Given the description of an element on the screen output the (x, y) to click on. 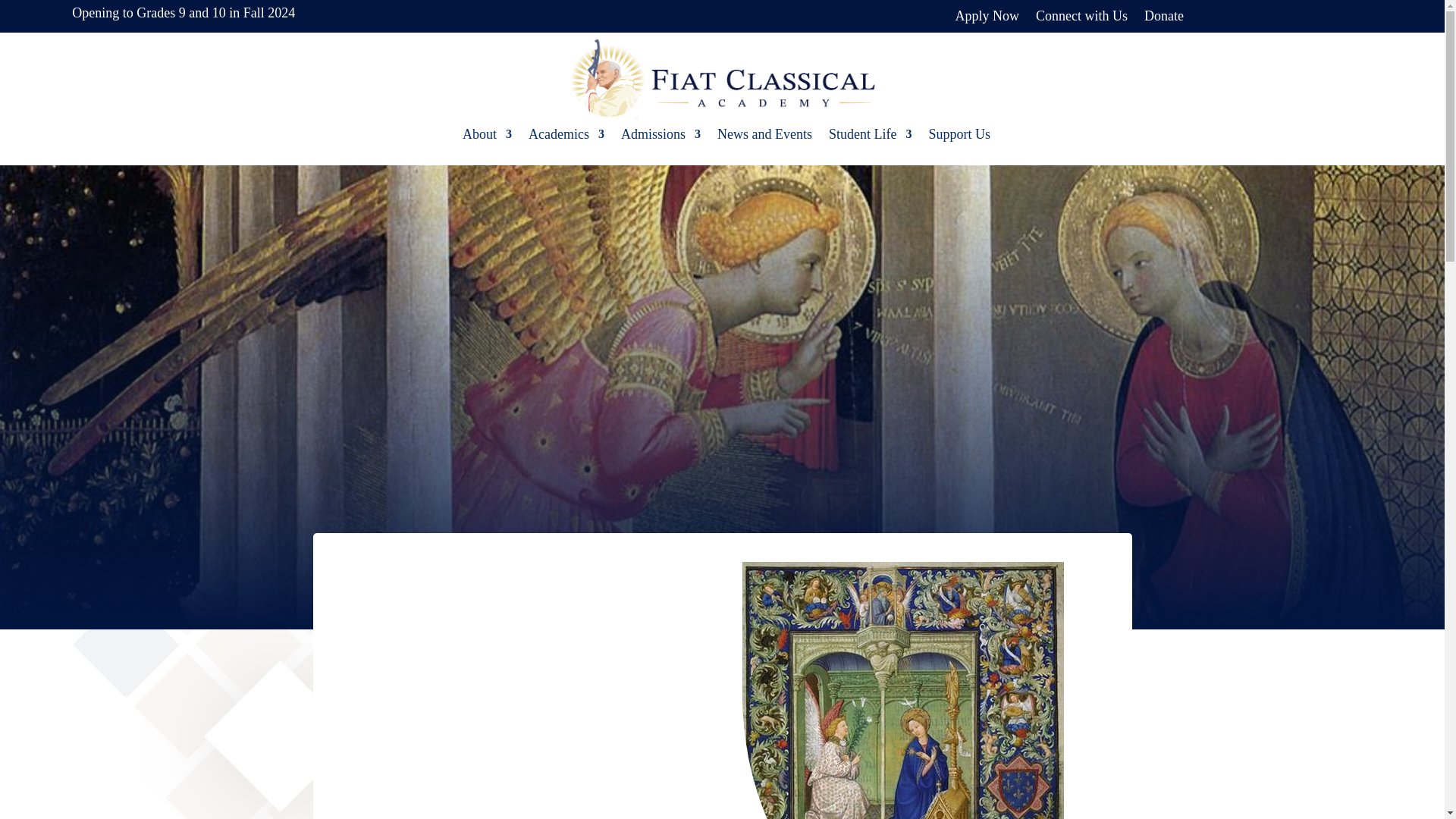
Student Life (869, 137)
Donate (1163, 18)
Support Us (959, 137)
News and Events (764, 137)
Apply Now (987, 18)
logo-fiat-2-01 (722, 78)
annunciation.jpg!Large (903, 690)
Admissions (660, 137)
Connect with Us (1080, 18)
Academics (566, 137)
About (487, 137)
